Given the description of an element on the screen output the (x, y) to click on. 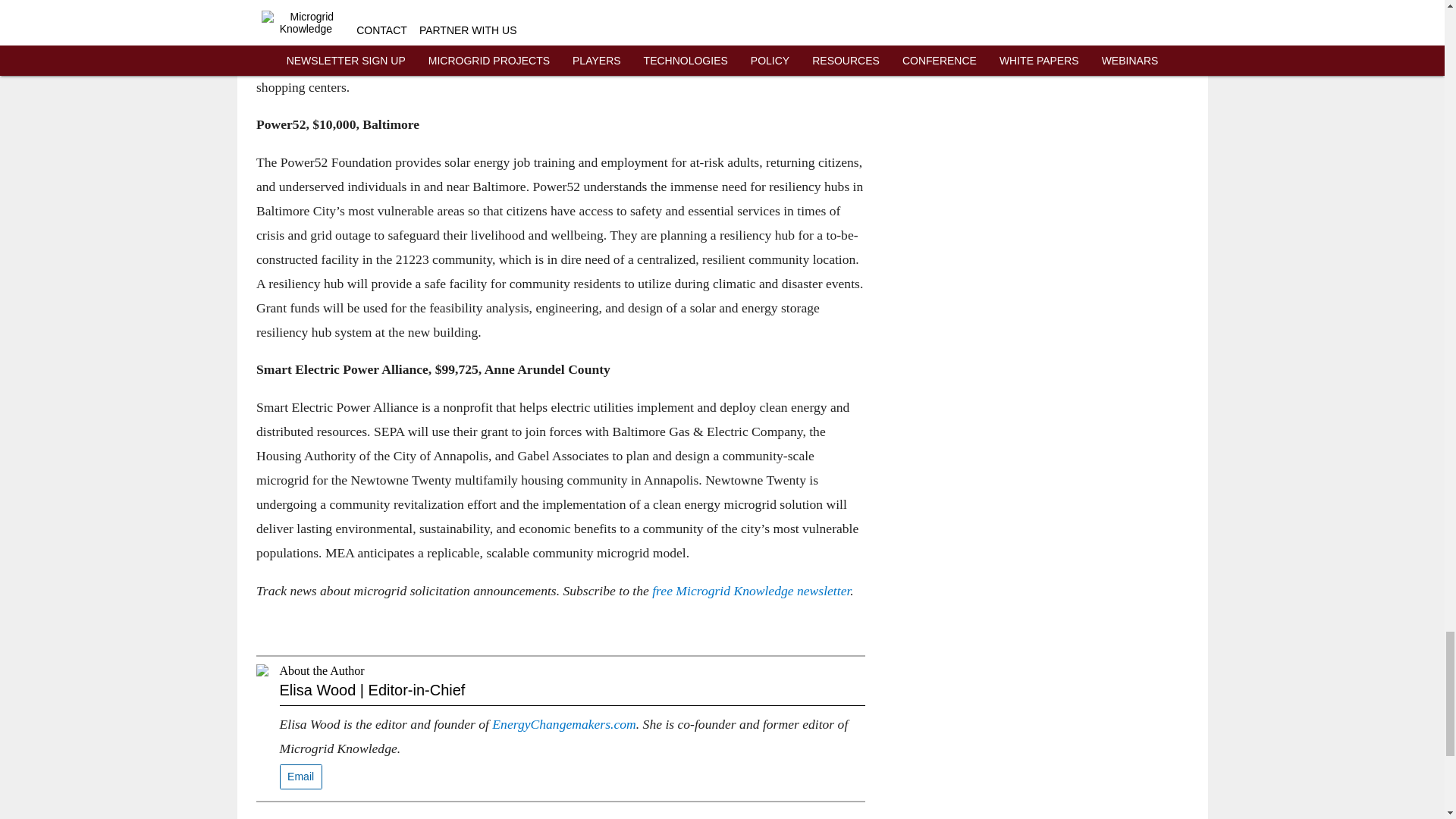
free Microgrid Knowledge newsletter (751, 589)
EnergyChangemakers.com (563, 724)
Email (300, 776)
